Given the description of an element on the screen output the (x, y) to click on. 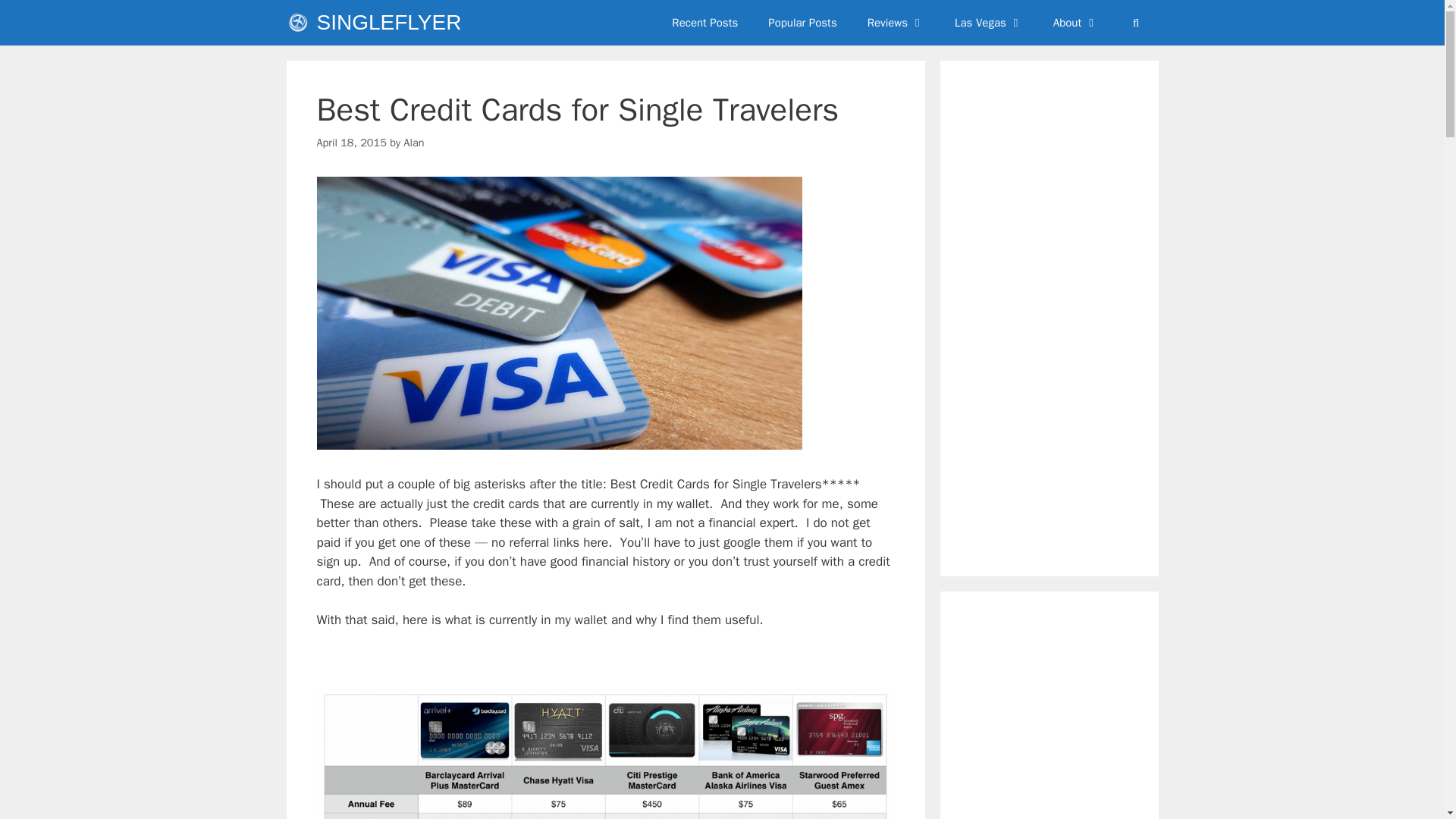
Alan (413, 142)
Advertisement (1080, 720)
Las Vegas (988, 22)
Recent Posts (704, 22)
View all posts by Alan (413, 142)
About (1075, 22)
Popular Posts (801, 22)
Credit Cards by Sean MacEntee, on Flickr (559, 445)
SINGLEFLYER (389, 22)
Reviews (895, 22)
